Given the description of an element on the screen output the (x, y) to click on. 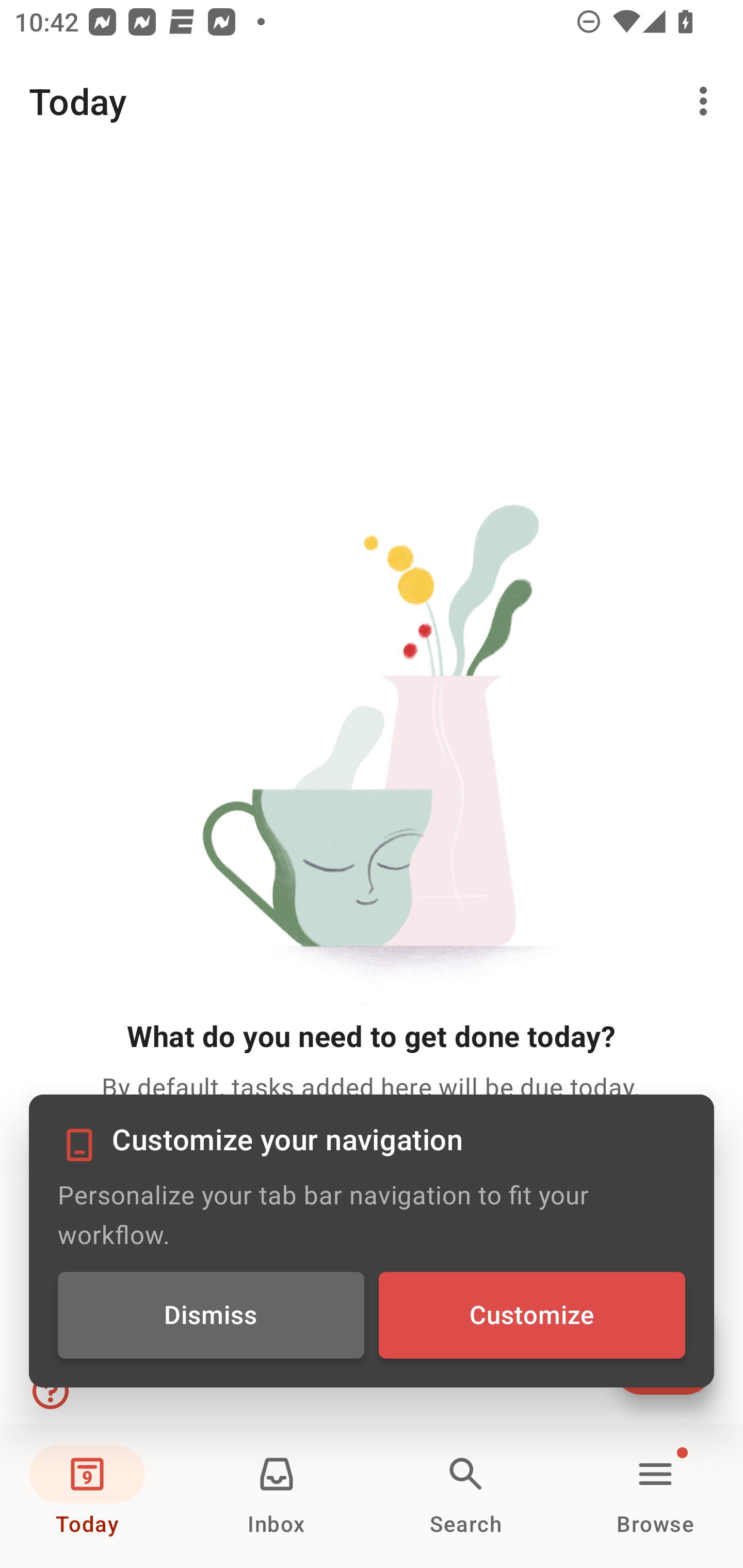
Today More options (371, 100)
More options (706, 101)
Dismiss (210, 1314)
Customize (531, 1314)
Inbox (276, 1495)
Search (465, 1495)
Browse (655, 1495)
